Given the description of an element on the screen output the (x, y) to click on. 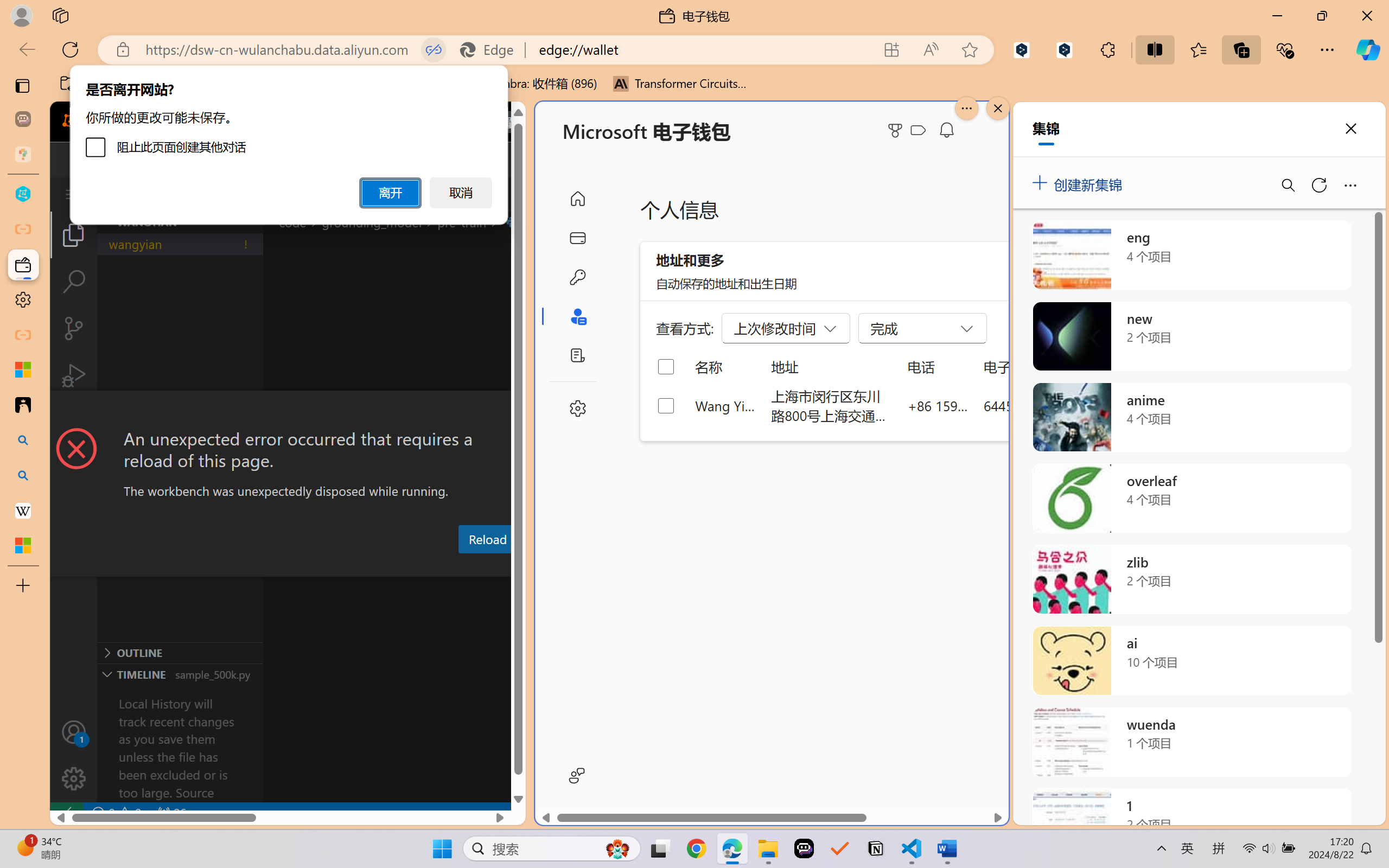
Class: ___1lmltc5 f1agt3bx f12qytpq (917, 130)
Outline Section (179, 652)
Class: actions-container (287, 410)
